Given the description of an element on the screen output the (x, y) to click on. 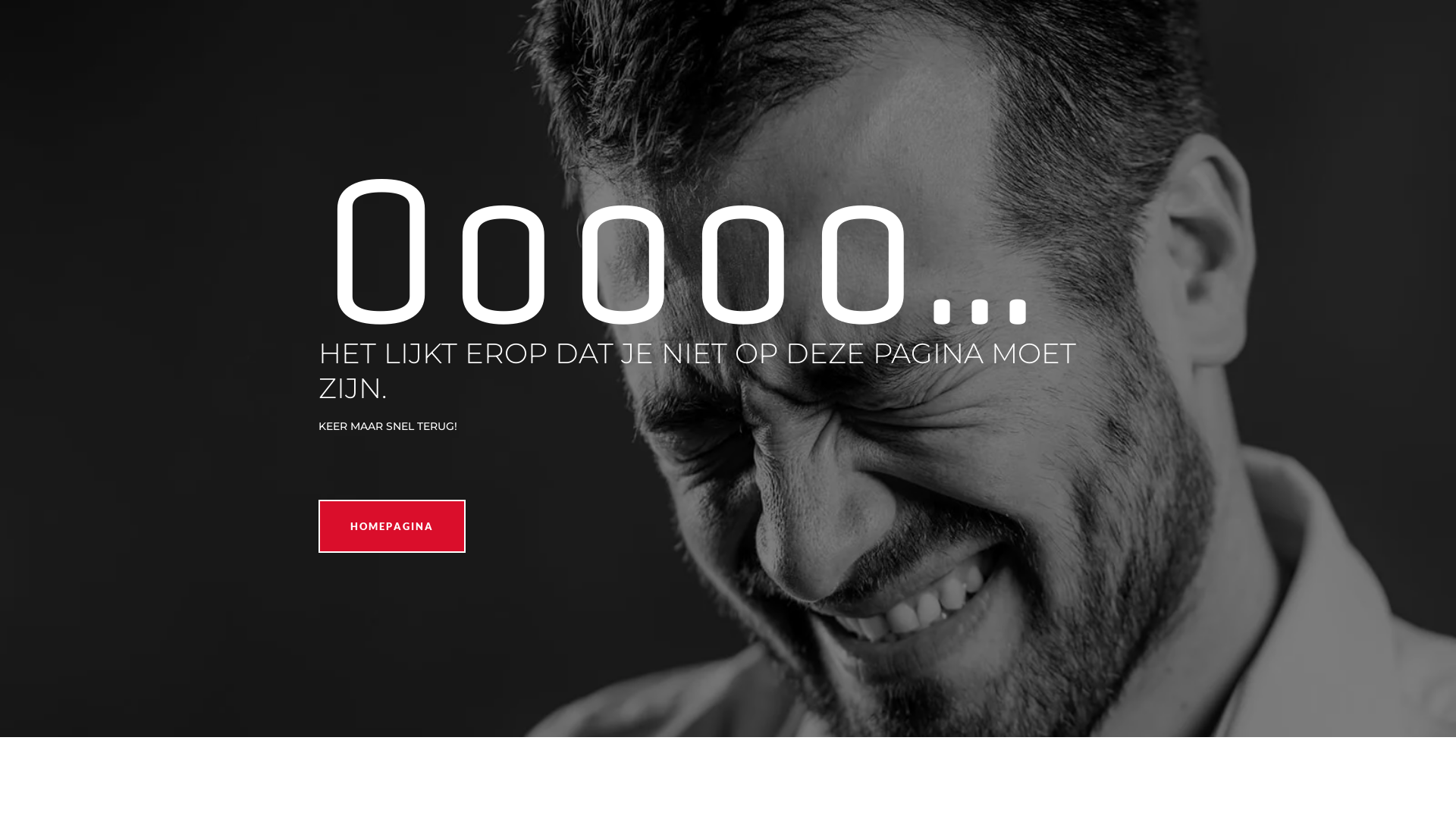
HOMEPAGINA Element type: text (391, 525)
